Given the description of an element on the screen output the (x, y) to click on. 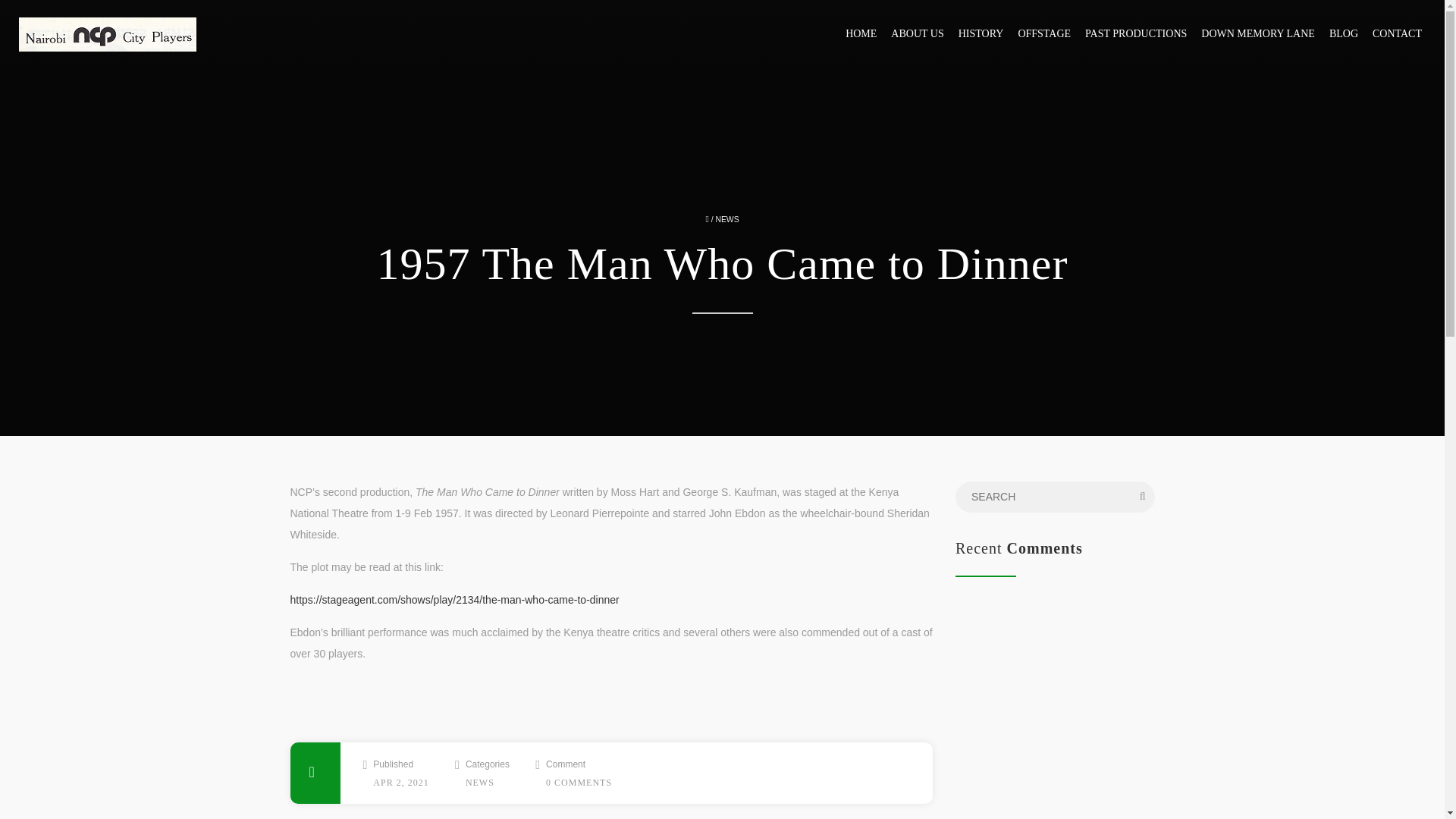
OFFSTAGE (1047, 33)
PAST PRODUCTIONS (1139, 33)
CONTACT (1401, 33)
Home (107, 33)
Search (43, 15)
ABOUT US (921, 33)
NEWS (480, 782)
NEWS (726, 219)
DOWN MEMORY LANE (1262, 33)
0 COMMENTS (578, 782)
